Given the description of an element on the screen output the (x, y) to click on. 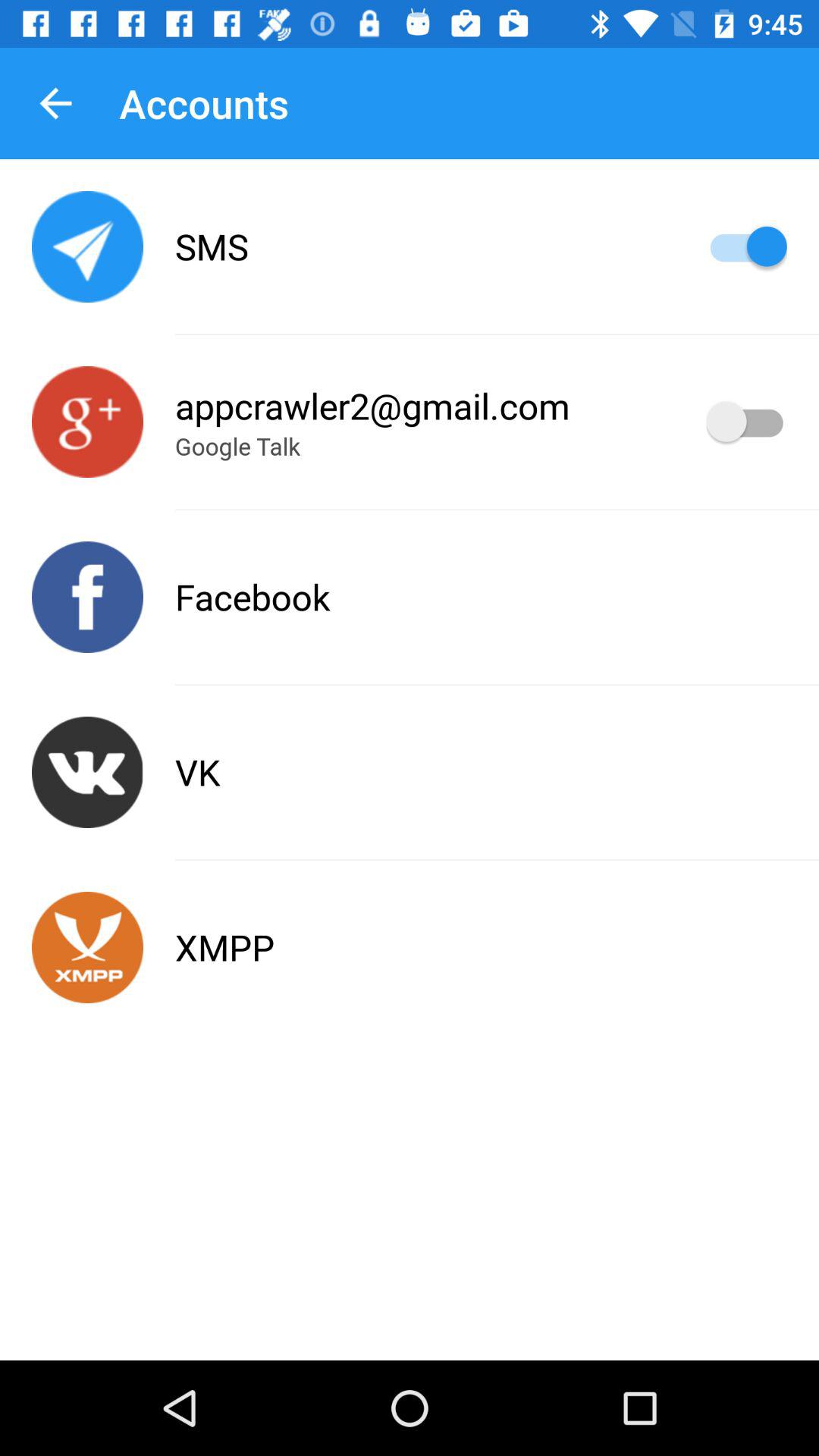
manage xmpp account (87, 947)
